Given the description of an element on the screen output the (x, y) to click on. 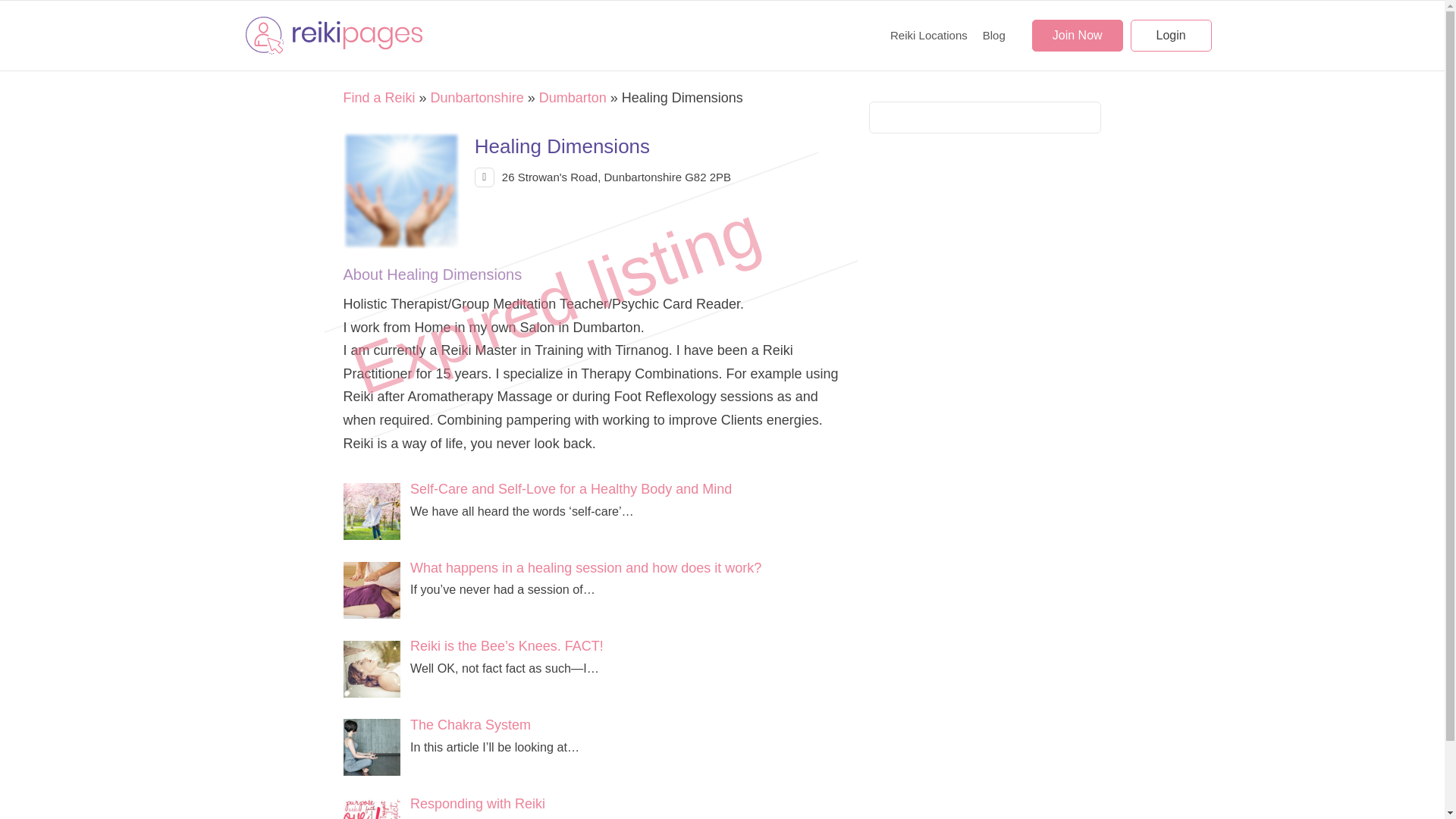
What happens in a healing session and how does it work? (585, 567)
Dunbartonshire (477, 97)
Dumbarton (572, 97)
Healing-Hands-image.jpg (401, 190)
The Chakra System (470, 724)
The Chakra System (376, 749)
Find a Reiki (378, 97)
Join Now (1077, 35)
What happens in a healing session and how does it work? (376, 590)
The Chakra System (470, 724)
